Given the description of an element on the screen output the (x, y) to click on. 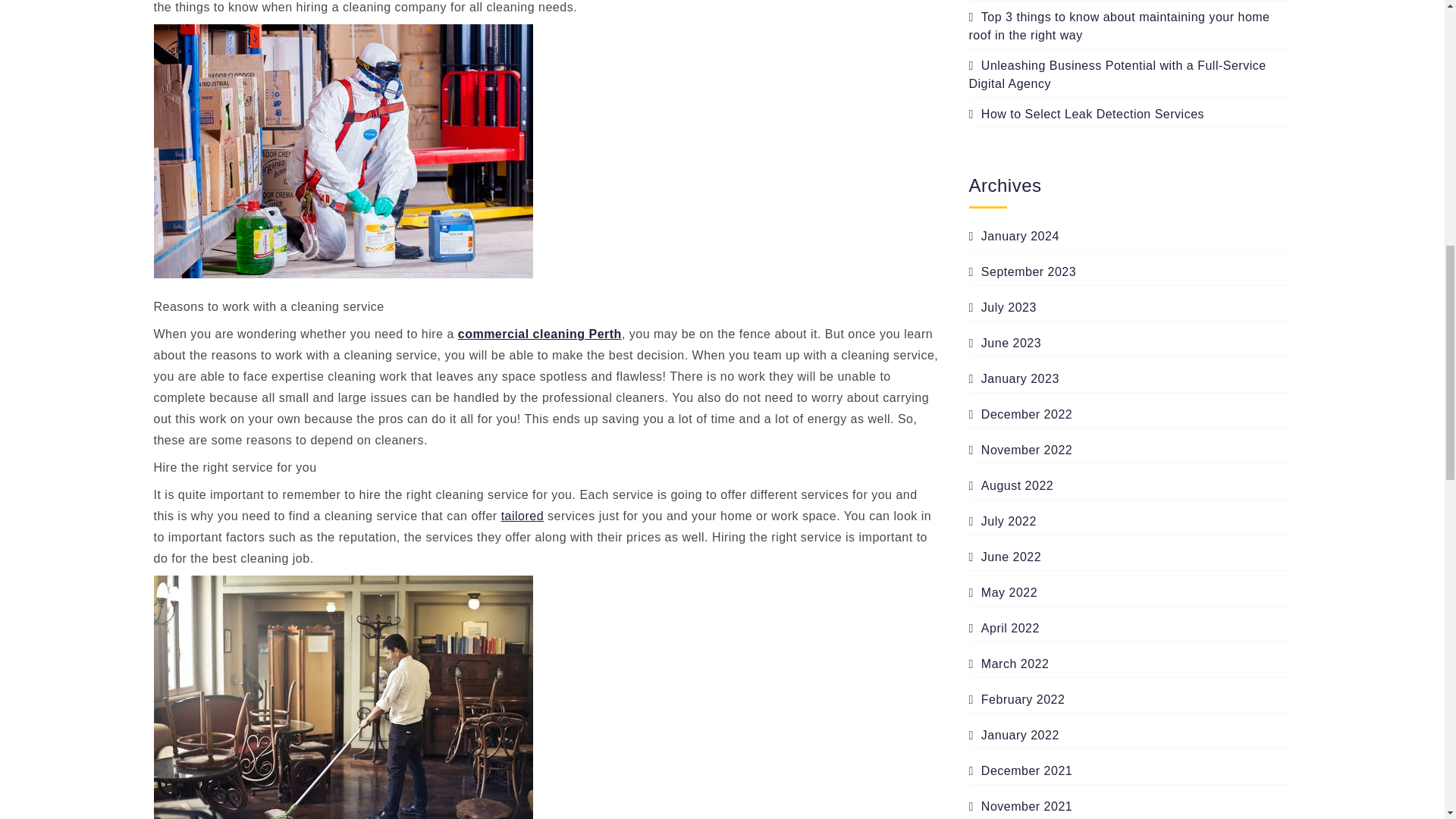
September 2023 (1023, 271)
January 2024 (1014, 236)
June 2023 (1005, 343)
November 2022 (1021, 450)
commercial cleaning Perth (539, 333)
tailored (521, 515)
How to Select Leak Detection Services (1087, 113)
July 2023 (1002, 307)
December 2022 (1021, 414)
July 2022 (1002, 521)
January 2023 (1014, 379)
August 2022 (1011, 485)
